Given the description of an element on the screen output the (x, y) to click on. 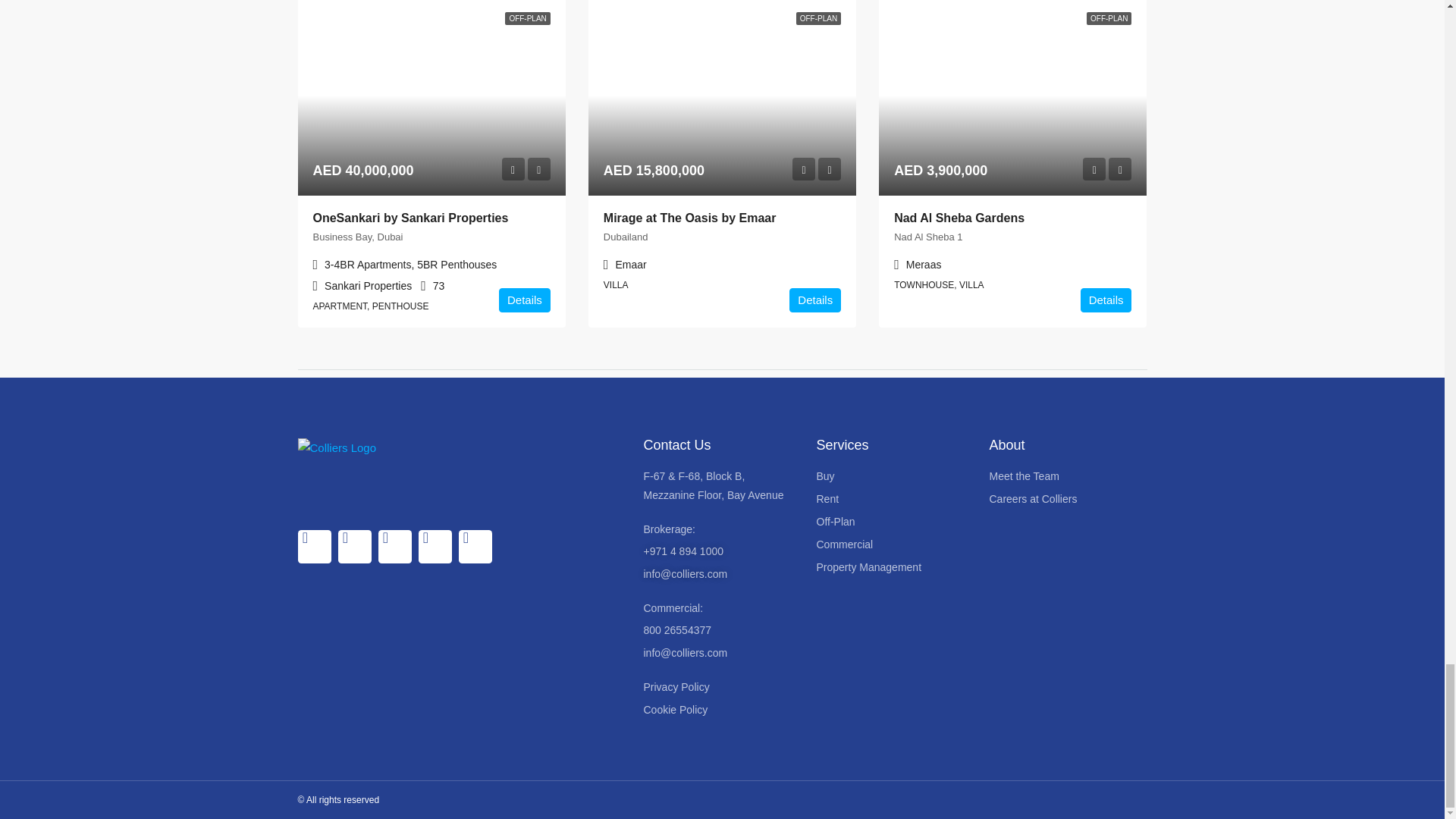
Favourite (1119, 169)
Favourite (538, 169)
Favourite (829, 169)
Preview (1094, 169)
Preview (803, 169)
Preview (513, 169)
